Given the description of an element on the screen output the (x, y) to click on. 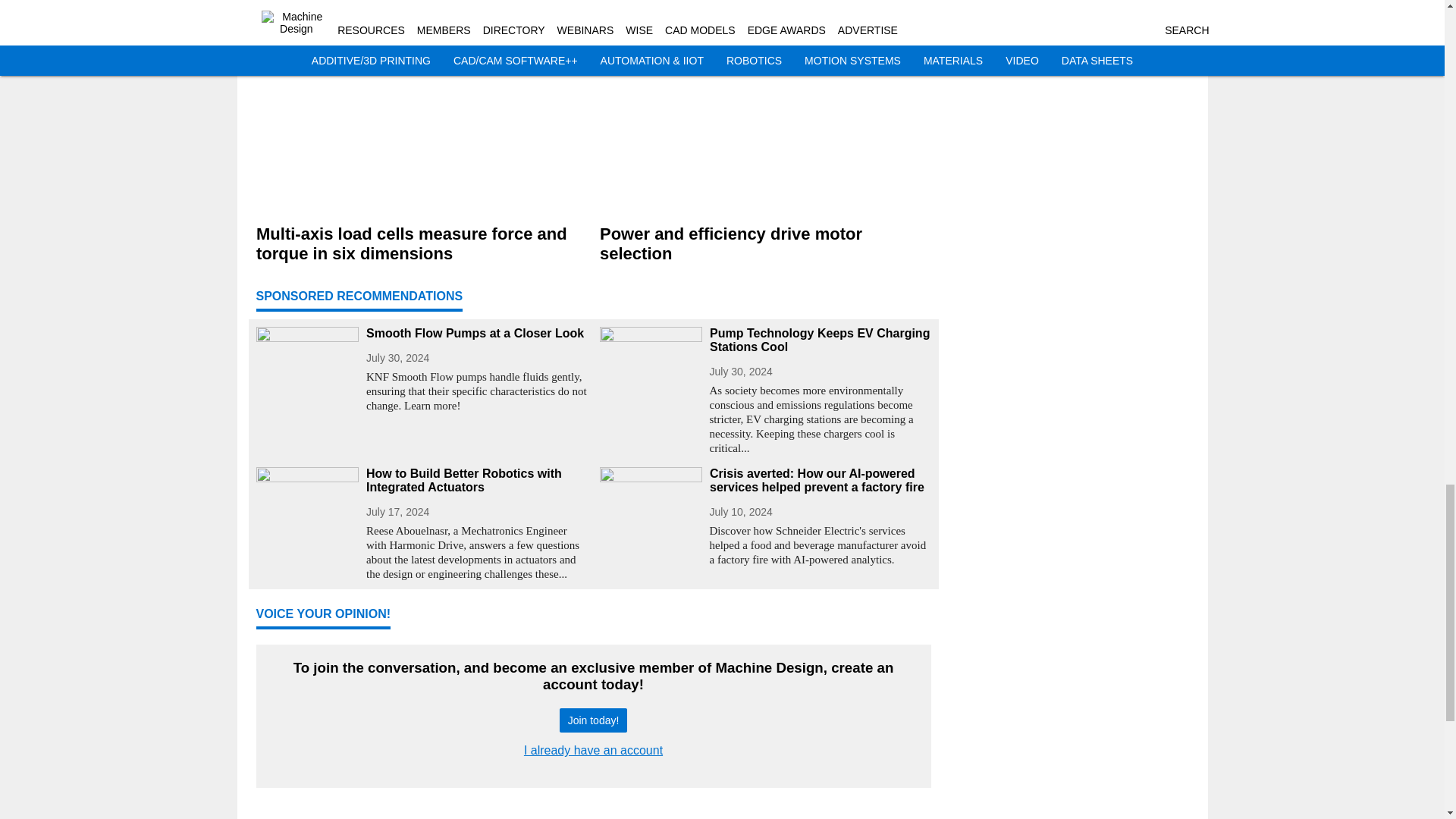
Pump Technology Keeps EV Charging Stations Cool (820, 339)
Join today! (593, 720)
Power and efficiency drive motor selection (764, 243)
I already have an account (593, 749)
How to Build Better Robotics with Integrated Actuators (476, 480)
Smooth Flow Pumps at a Closer Look (476, 333)
